Given the description of an element on the screen output the (x, y) to click on. 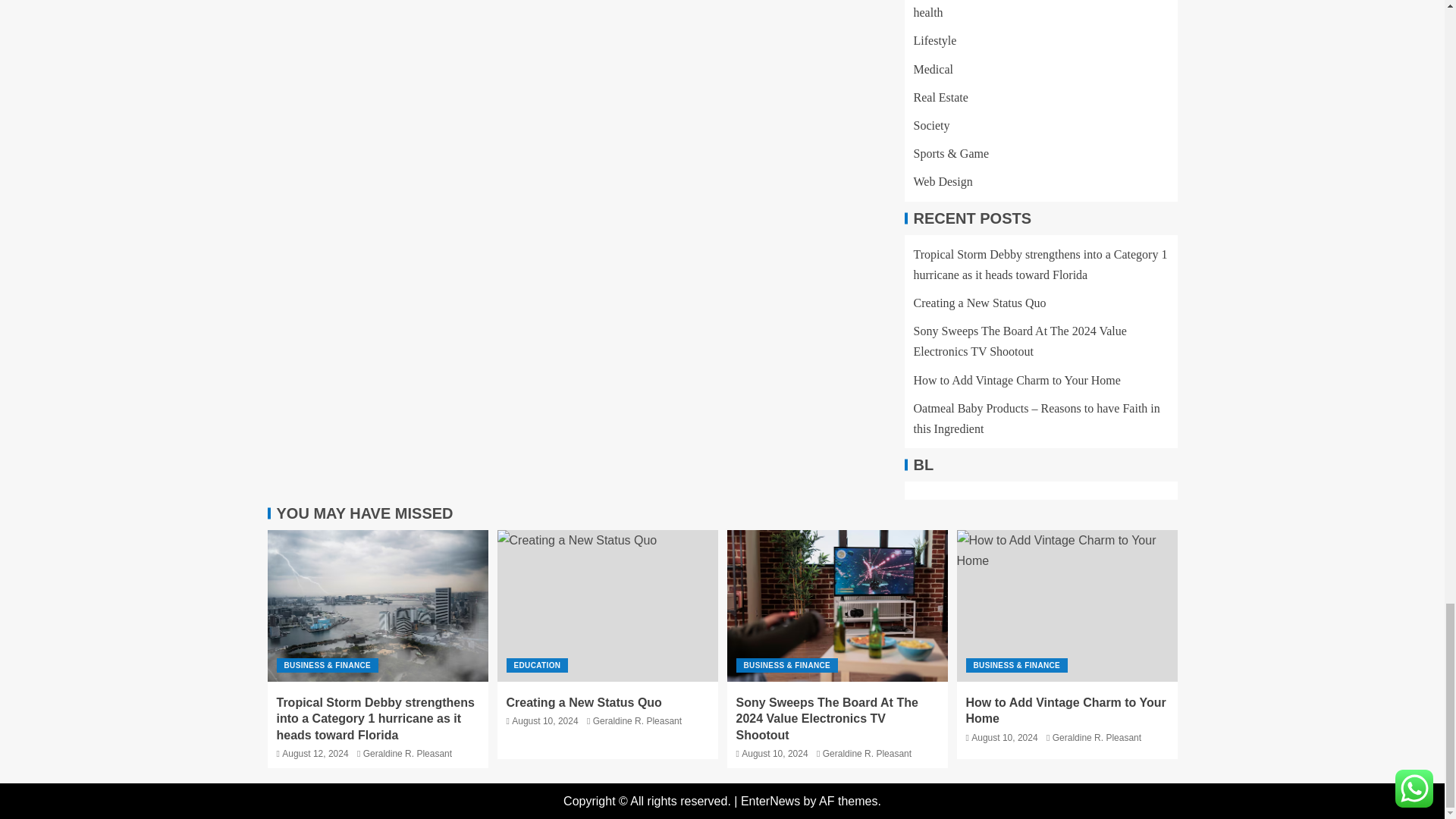
Creating a New Status Quo (607, 605)
